Given the description of an element on the screen output the (x, y) to click on. 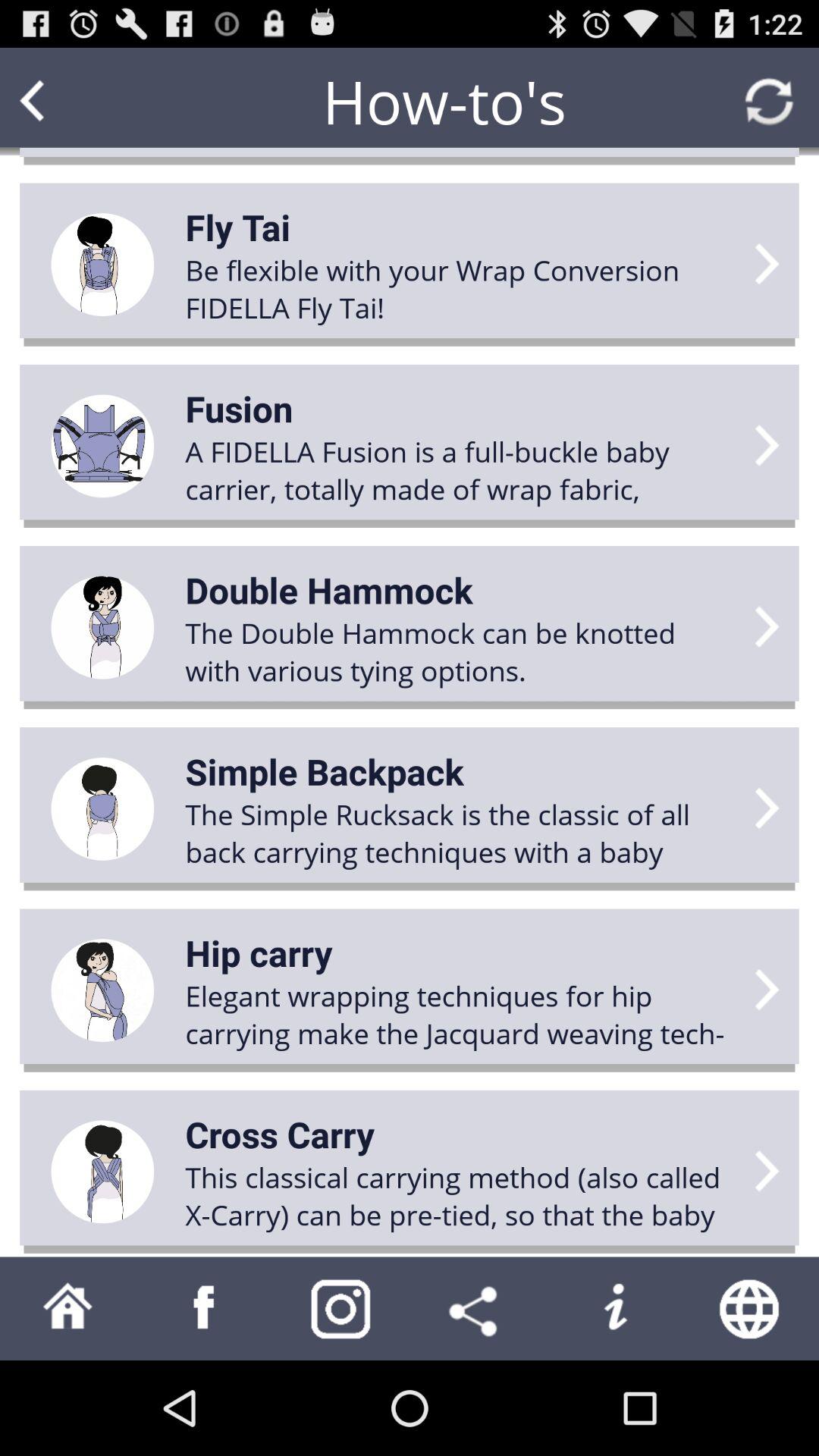
accesses the web browser (750, 1308)
